Given the description of an element on the screen output the (x, y) to click on. 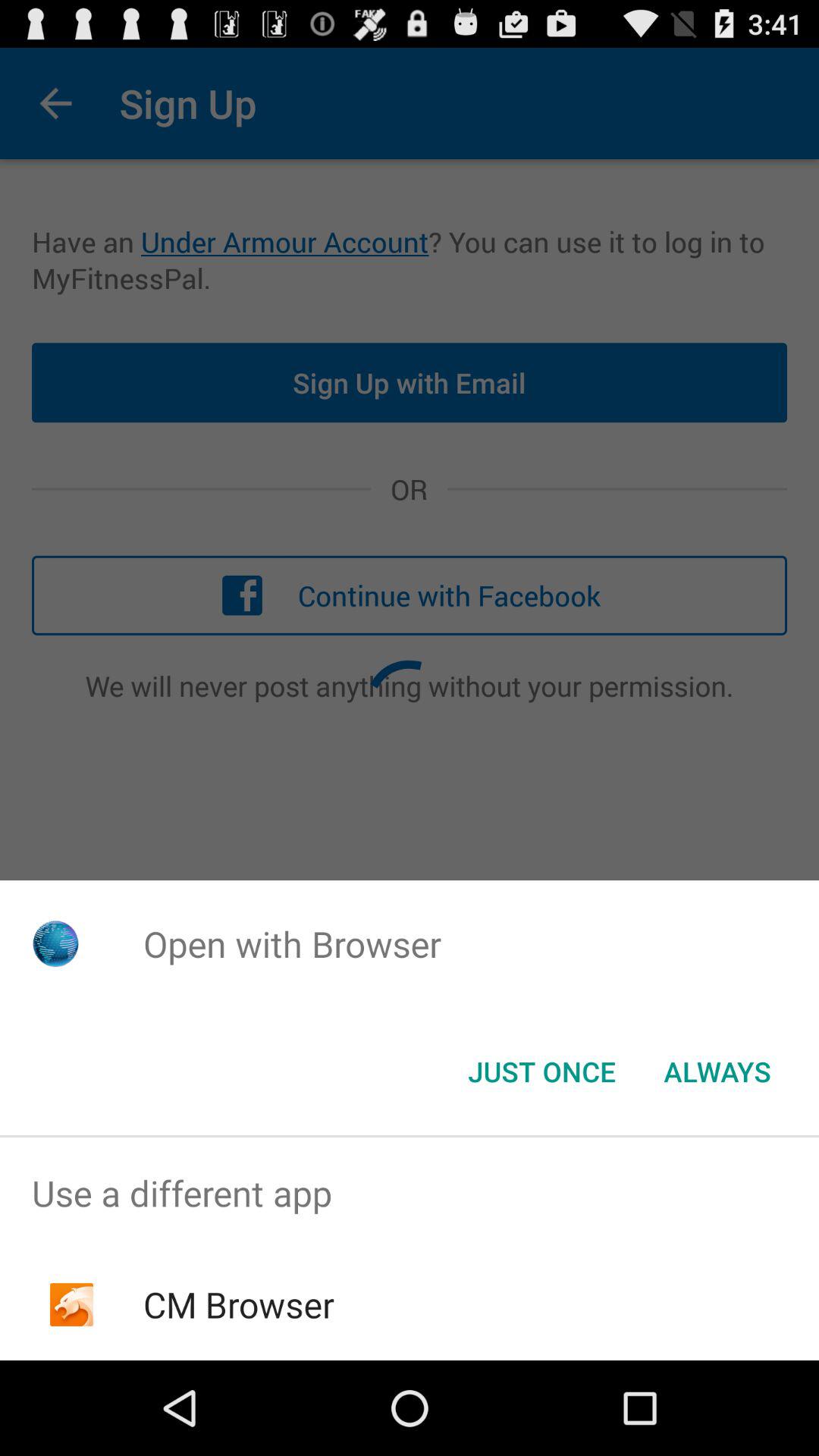
press icon below the use a different (238, 1304)
